Given the description of an element on the screen output the (x, y) to click on. 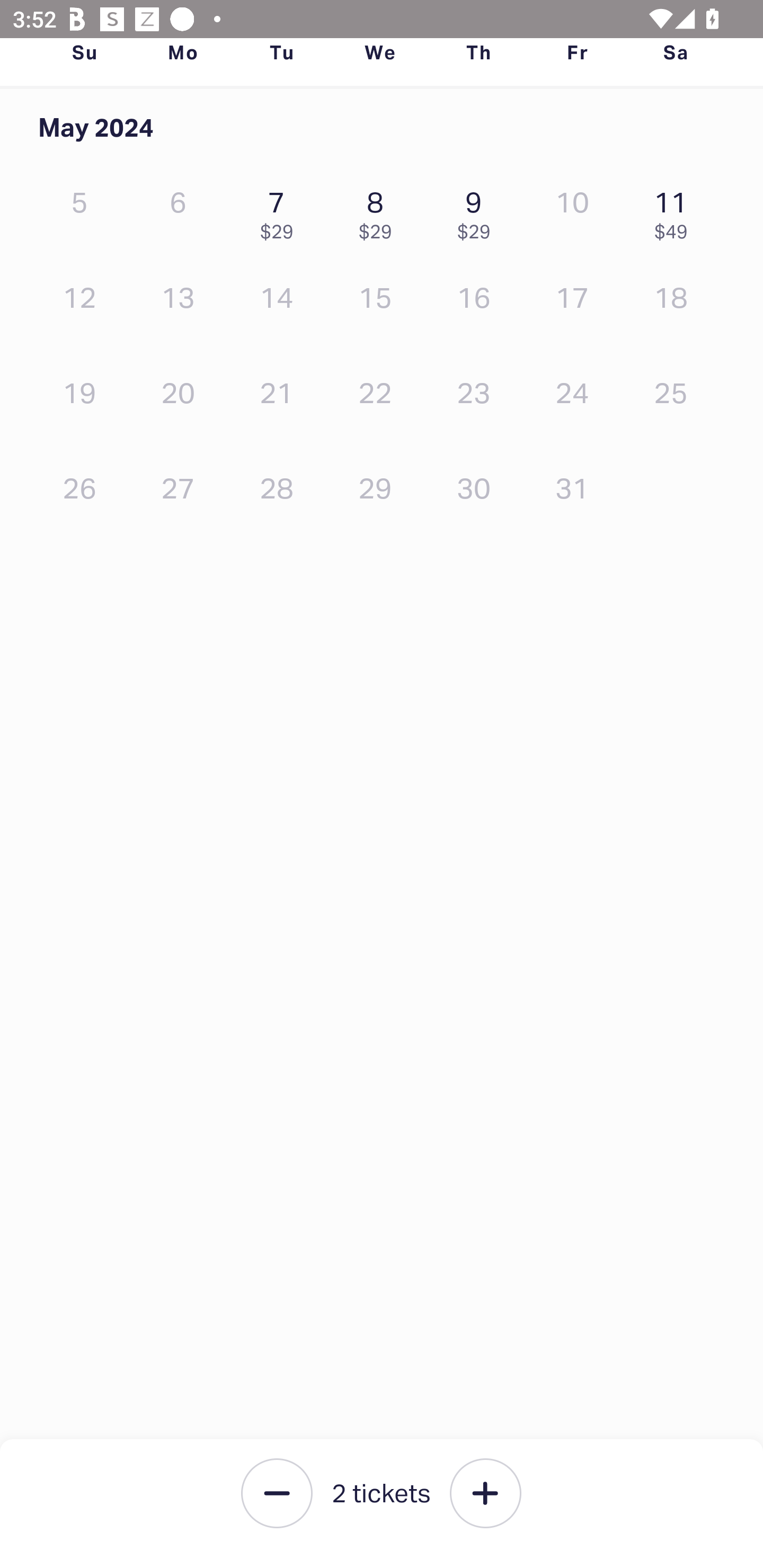
7 $29 (281, 210)
8 $29 (379, 210)
9 $29 (478, 210)
11 $49 (675, 210)
